Given the description of an element on the screen output the (x, y) to click on. 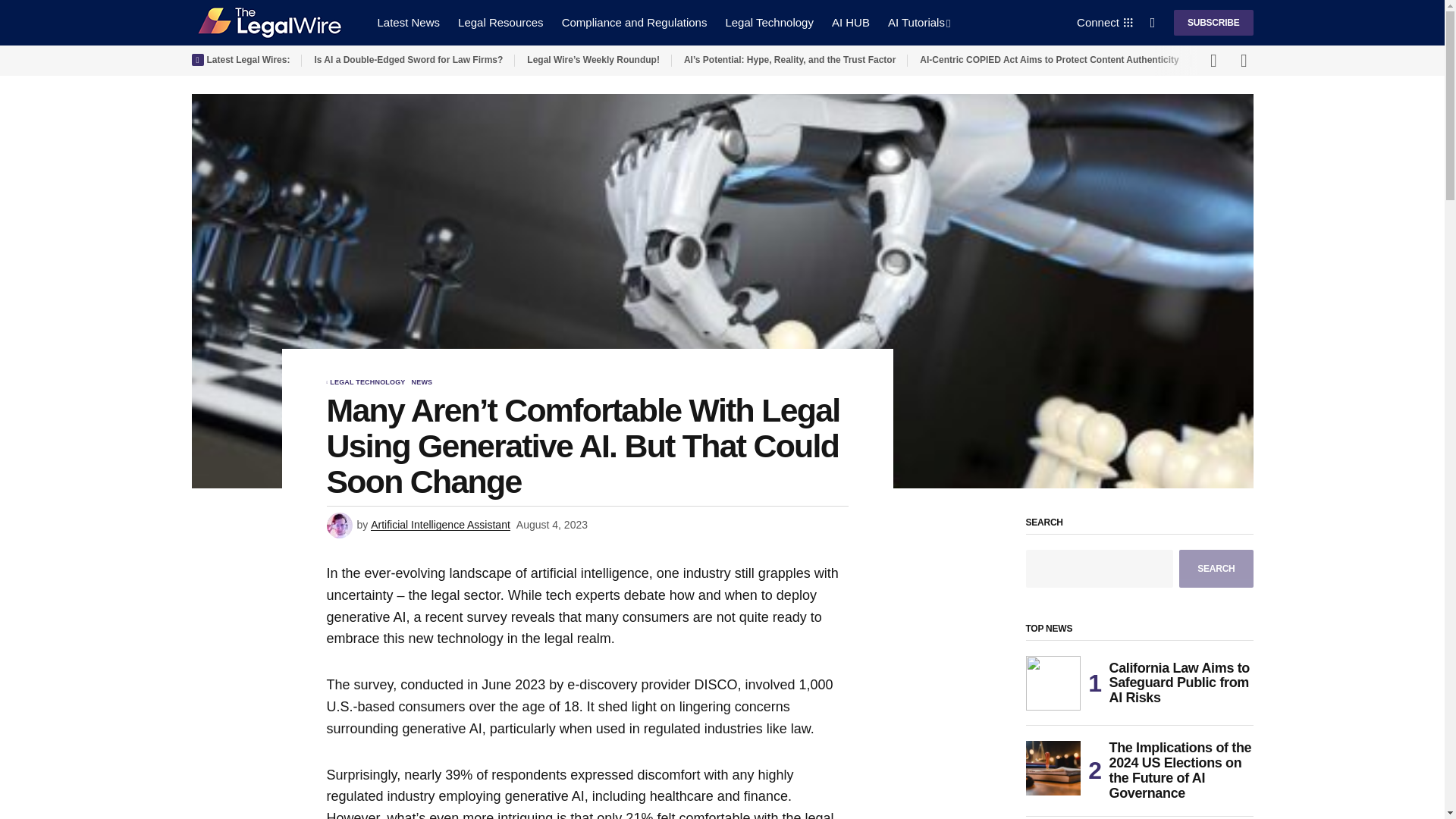
Legal Resources (500, 22)
AI Tutorials (919, 22)
Legal Technology (769, 22)
AI HUB (850, 22)
Latest News (408, 22)
Compliance and Regulations (634, 22)
